Given the description of an element on the screen output the (x, y) to click on. 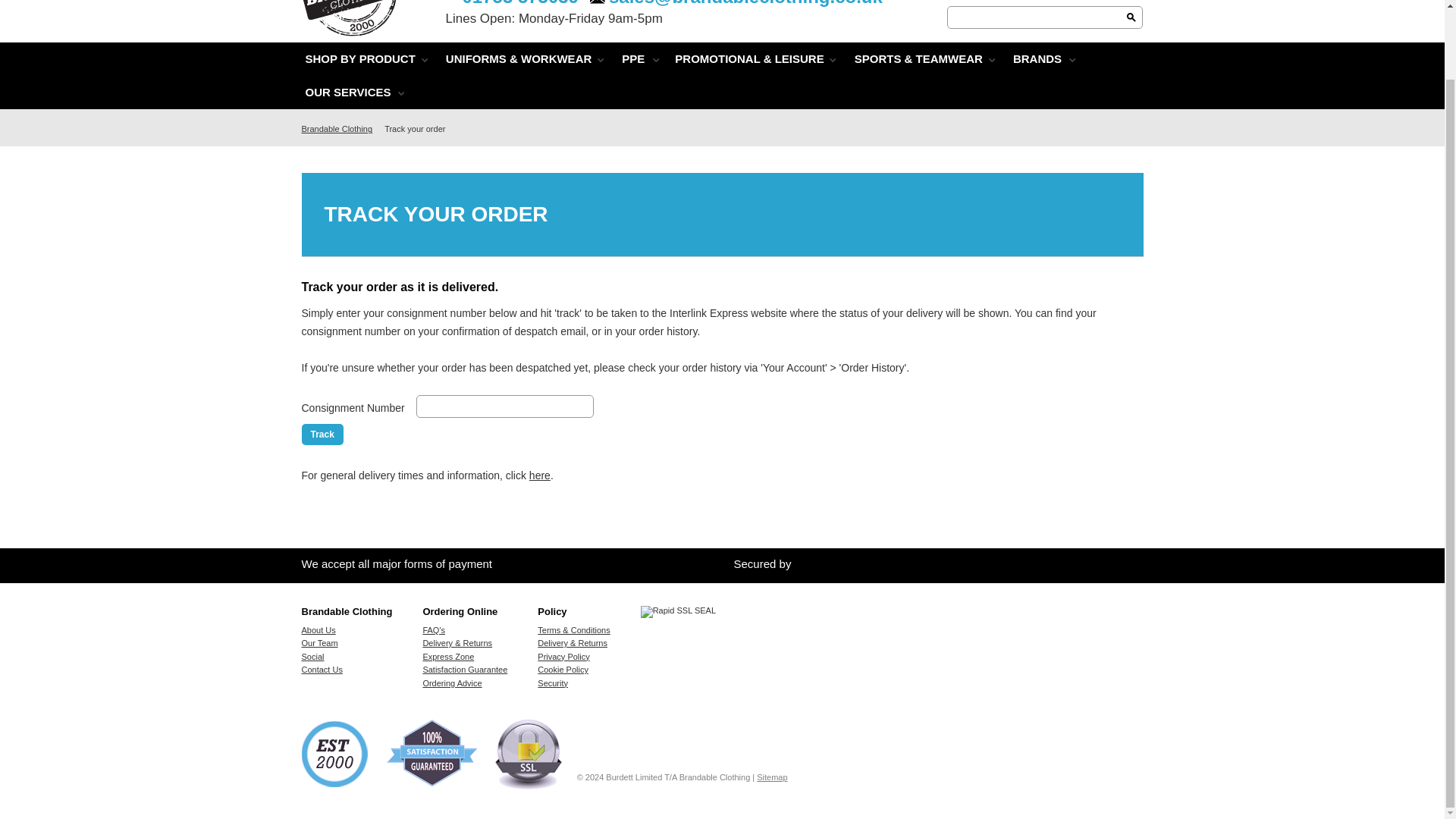
Go to Home Page (340, 128)
Consignment Number (505, 405)
Search (1130, 16)
01753 573039 (512, 2)
SHOP BY PRODUCT (359, 59)
Brandable Clothing (354, 28)
